Given the description of an element on the screen output the (x, y) to click on. 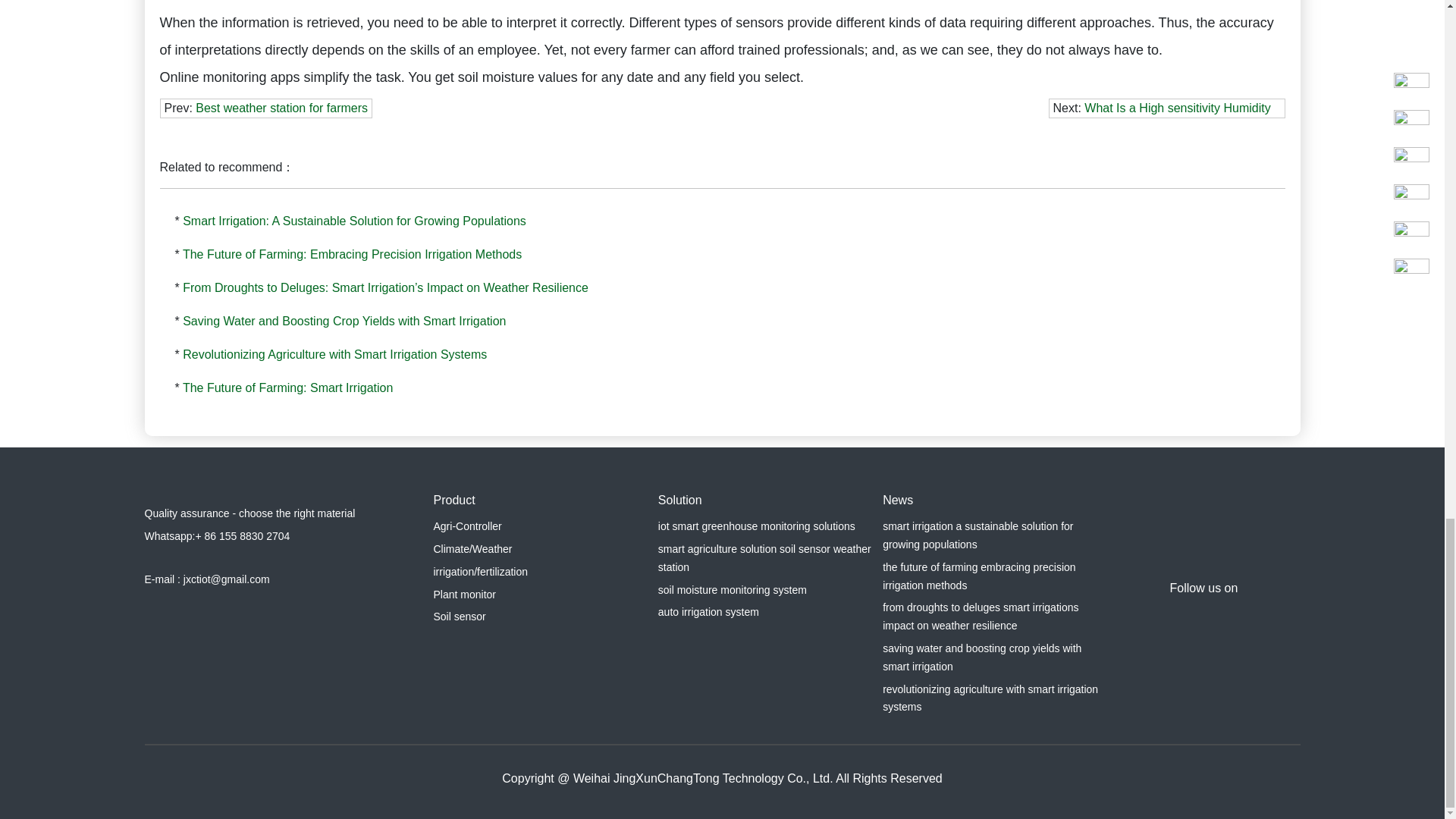
Saving Water and Boosting Crop Yields with Smart Irrigation (344, 320)
Revolutionizing Agriculture with Smart Irrigation Systems (334, 354)
The Future of Farming: Smart Irrigation (288, 387)
